Given the description of an element on the screen output the (x, y) to click on. 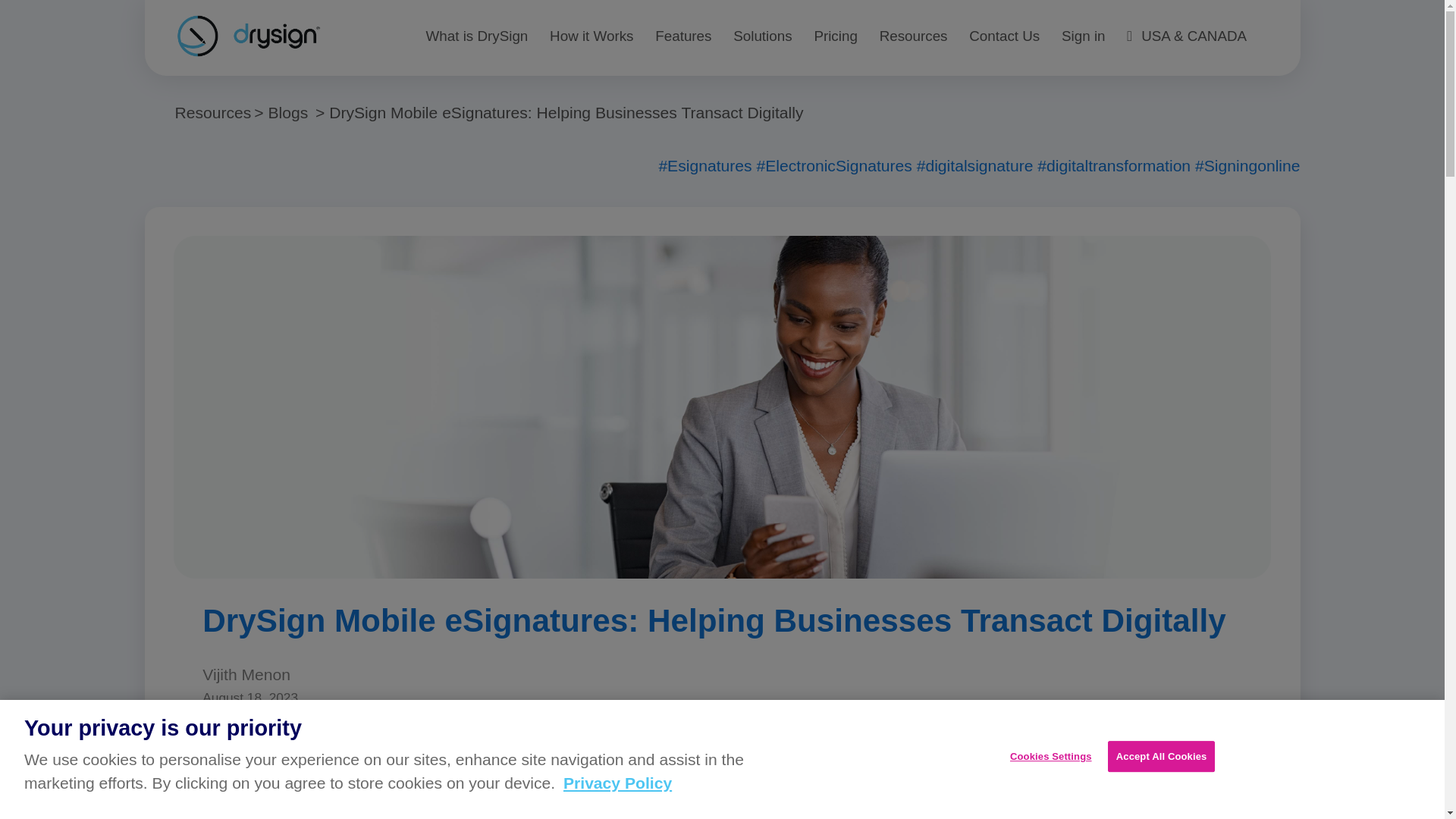
Contact Us (1004, 38)
Home (254, 35)
How it Works (591, 38)
Blogs (295, 112)
What is DrySign (477, 38)
Resources (218, 112)
Resources (913, 38)
